Given the description of an element on the screen output the (x, y) to click on. 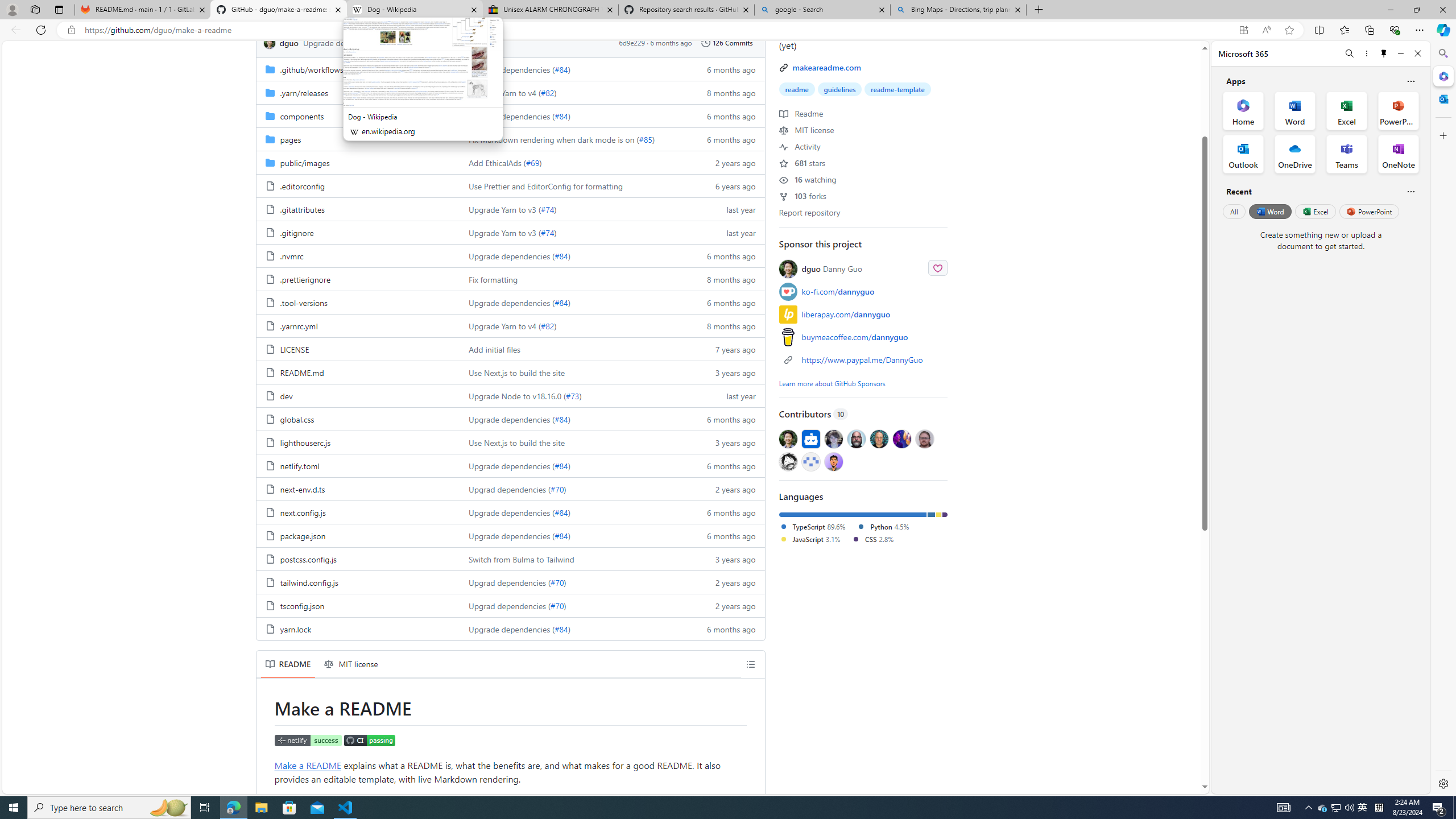
Learn more about GitHub Sponsors (831, 383)
@dependabot[bot] (809, 438)
.gitattributes, (File) (358, 208)
ko_fi (787, 290)
New Tab (1038, 9)
pages, (Directory) (358, 138)
Add this page to favorites (Ctrl+D) (1289, 29)
Excel Office App (1346, 110)
AutomationID: folder-row-12 (510, 348)
@sy-records (787, 461)
3 years ago (725, 558)
https://www.paypal.me/DannyGuo (861, 360)
Upgrad dependencies ( (509, 605)
2 years ago (725, 604)
.prettierignore, (File) (358, 278)
